Given the description of an element on the screen output the (x, y) to click on. 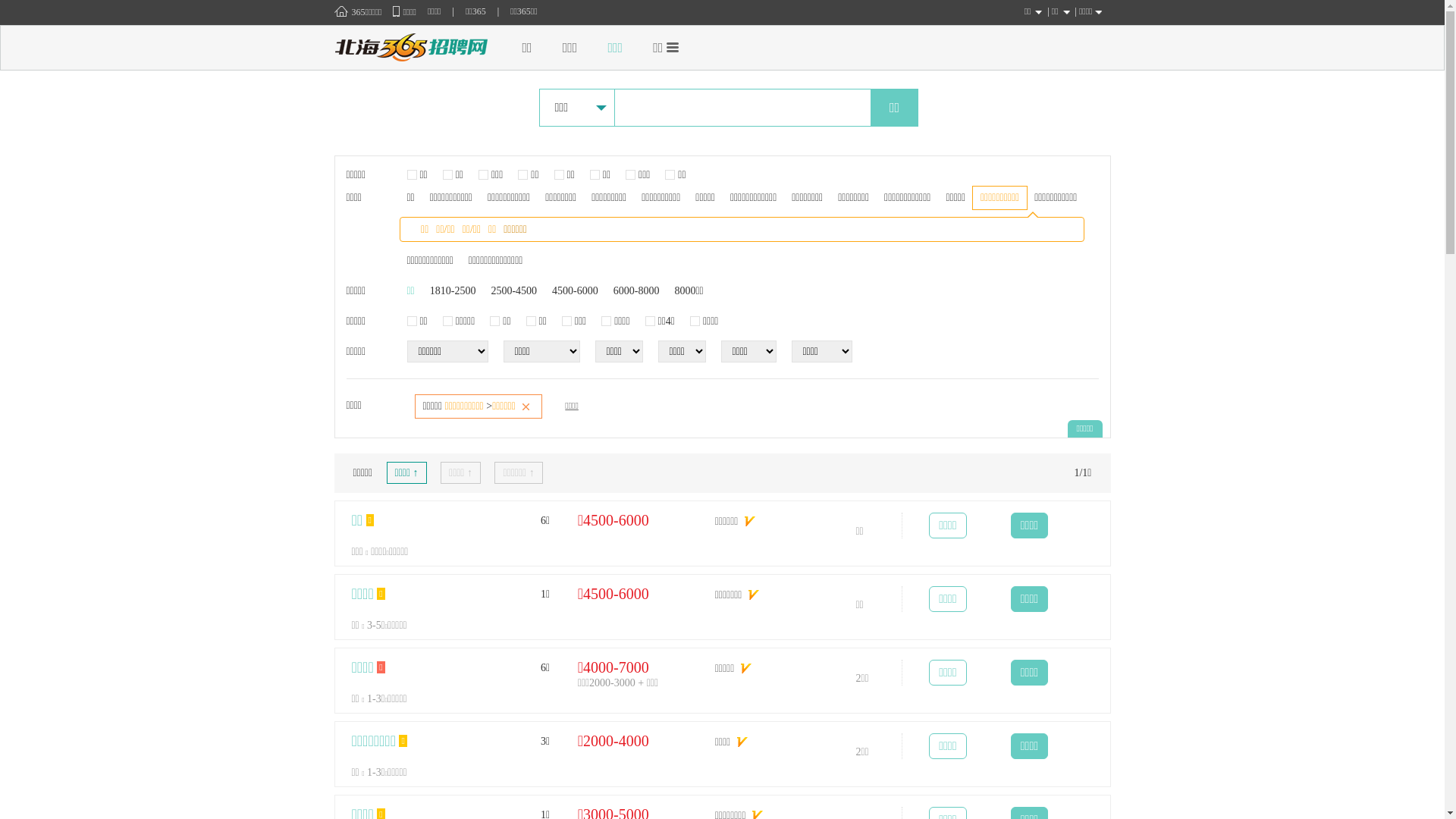
1 Element type: text (4, 4)
6000-8000 Element type: text (636, 290)
4500-6000 Element type: text (575, 290)
2500-4500 Element type: text (513, 290)
1810-2500 Element type: text (452, 290)
